Given the description of an element on the screen output the (x, y) to click on. 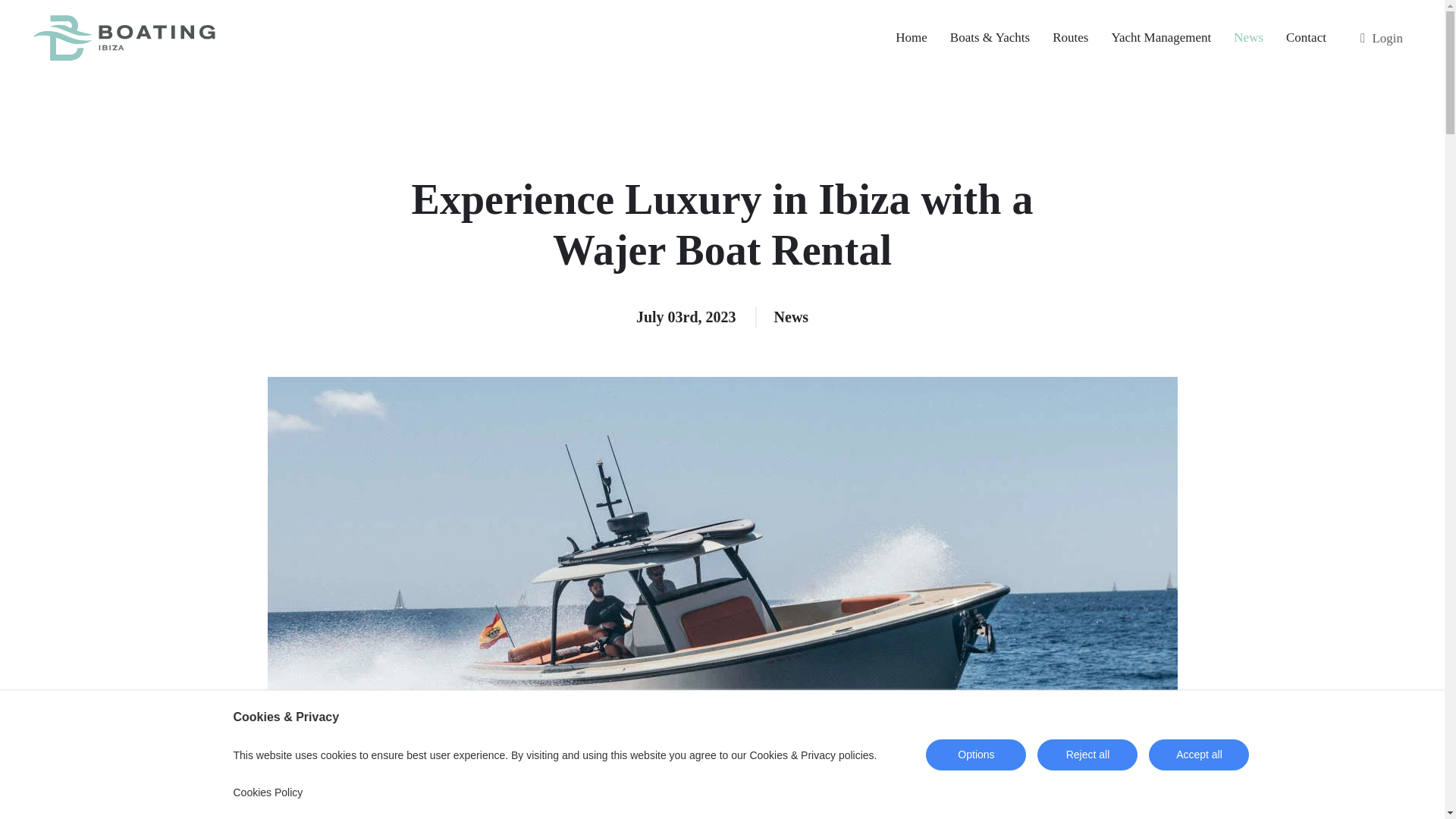
News (791, 316)
Yacht Management (1160, 38)
Boats and Yachts Rentals in Ibiza (989, 38)
Login (1381, 38)
